Given the description of an element on the screen output the (x, y) to click on. 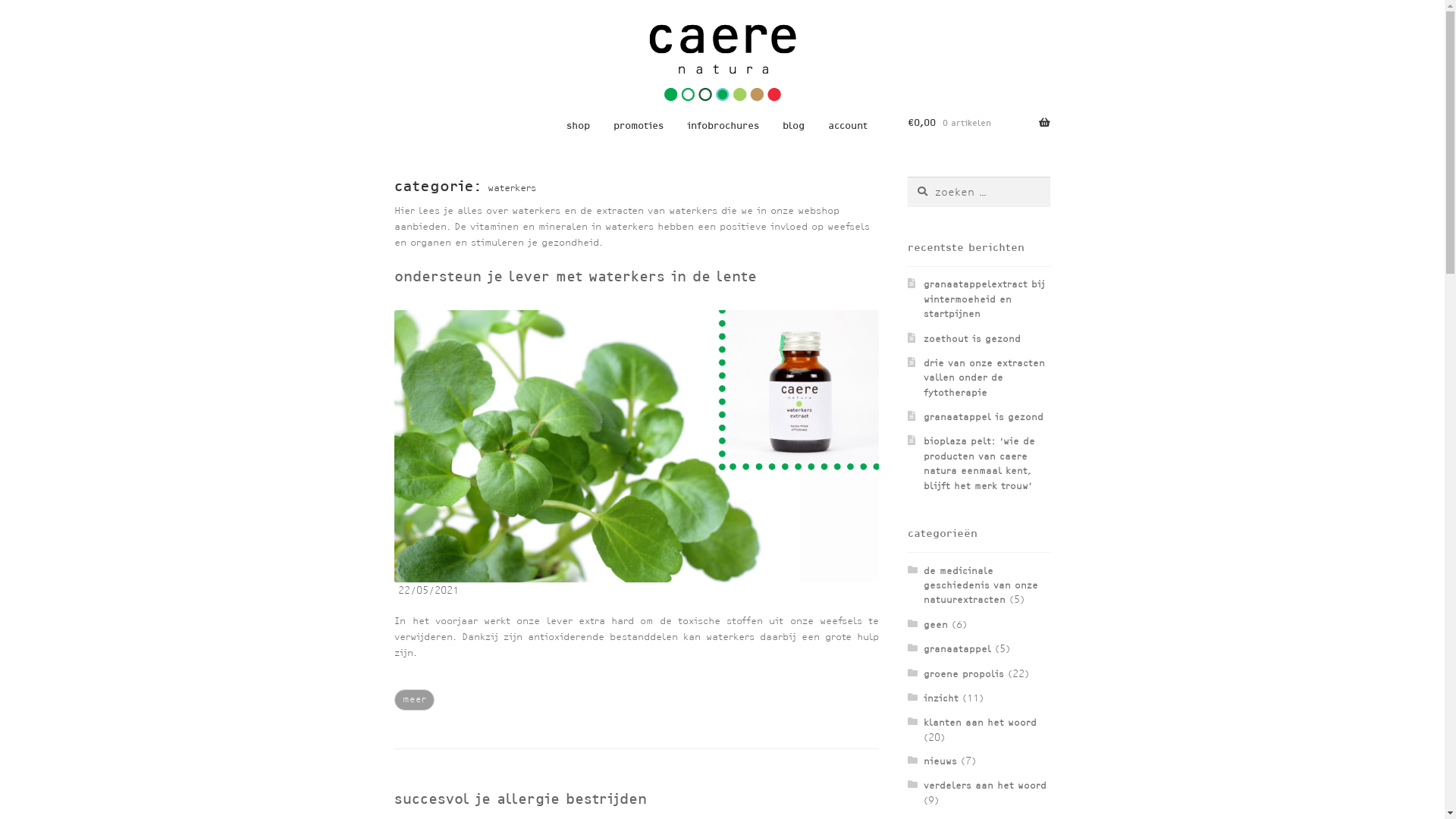
zoethout is gezond Element type: text (971, 337)
geen Element type: text (935, 624)
ga door naar navigatie Element type: text (393, 21)
granaatappel Element type: text (957, 648)
promoties Element type: text (638, 125)
groene propolis Element type: text (963, 672)
granaatappelextract bij wintermoeheid en startpijnen Element type: text (983, 298)
nieuws Element type: text (940, 760)
succesvol je allergie bestrijden Element type: text (520, 797)
meer Element type: text (414, 699)
de medicinale geschiedenis van onze natuurextracten Element type: text (980, 584)
shop Element type: text (577, 125)
ondersteun je lever met waterkers in de lente Element type: text (575, 275)
account Element type: text (847, 125)
granaatappel is gezond Element type: text (983, 416)
verdelers aan het woord Element type: text (984, 784)
Zoeken Element type: text (906, 175)
infobrochures Element type: text (722, 125)
blog Element type: text (793, 125)
inzicht Element type: text (940, 697)
drie van onze extracten vallen onder de fytotherapie Element type: text (983, 377)
klanten aan het woord Element type: text (979, 722)
